Given the description of an element on the screen output the (x, y) to click on. 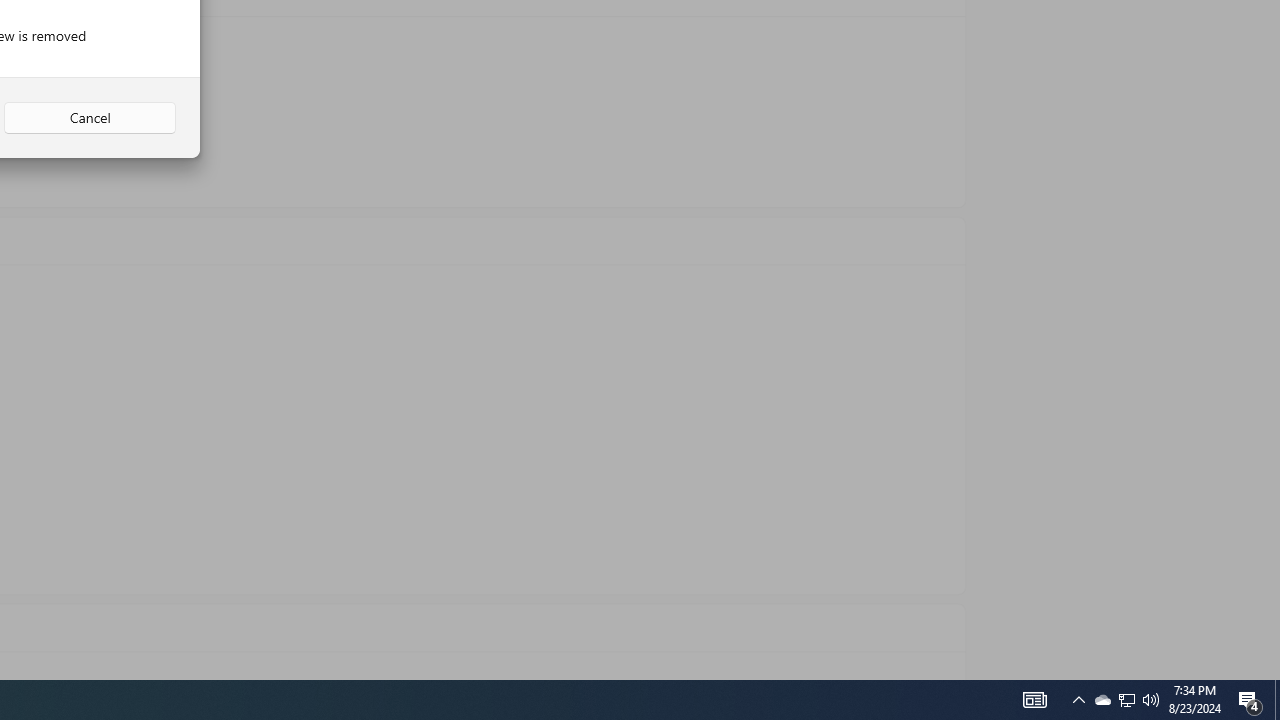
Cancel (89, 117)
